Given the description of an element on the screen output the (x, y) to click on. 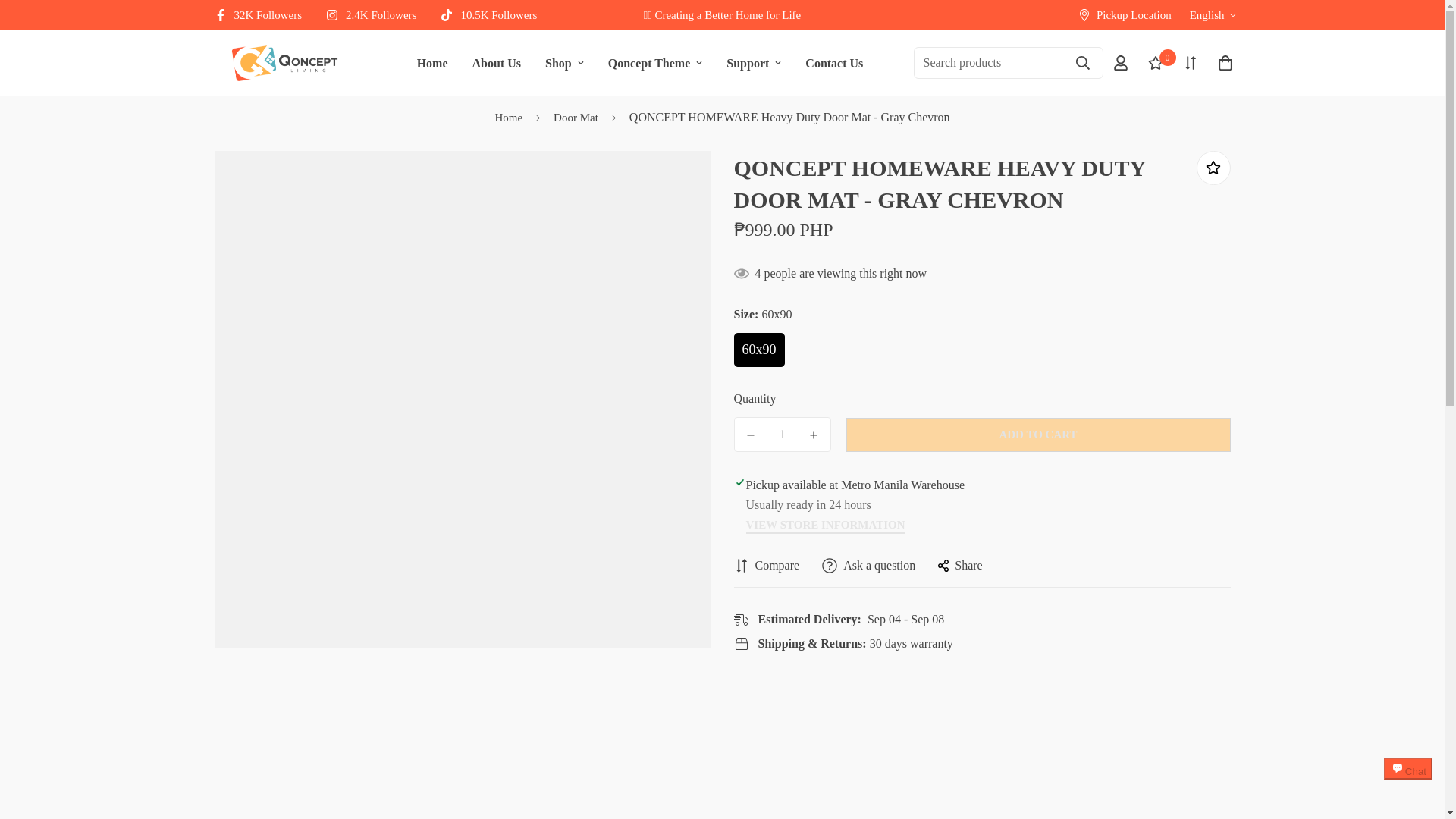
10.5K Followers (640, 62)
2.4K Followers (493, 15)
Home (376, 15)
32K Followers (432, 62)
Shop (264, 15)
Qoncept Living (563, 62)
60x90 (283, 62)
Qoncept Theme (834, 62)
